Given the description of an element on the screen output the (x, y) to click on. 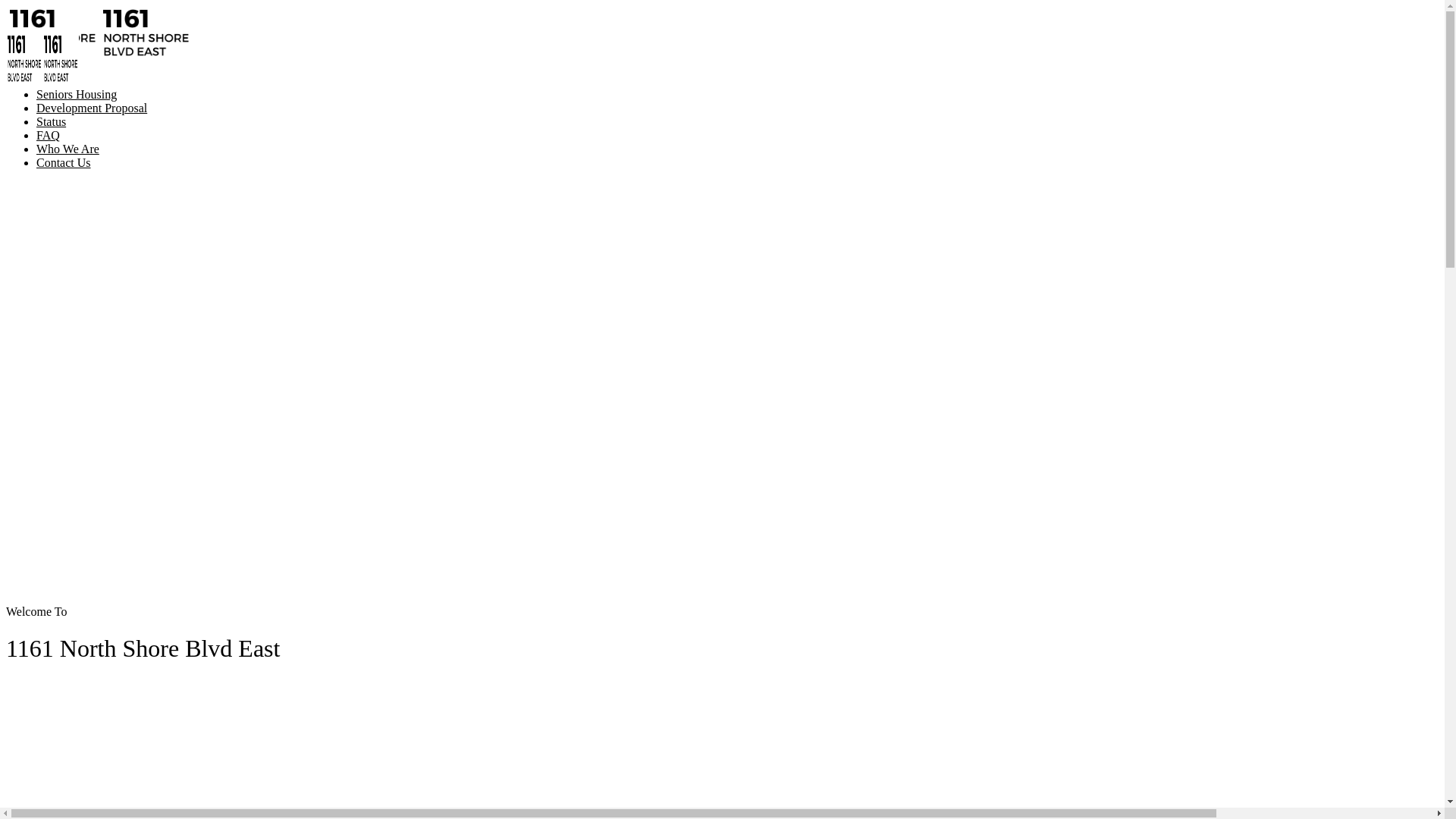
Contact Us Element type: text (63, 162)
Home Element type: text (50, 80)
Status Element type: text (50, 121)
Who We Are Element type: text (67, 148)
1161 North Shore Blvd East | Burlington, Ontario Element type: hover (42, 80)
FAQ Element type: text (47, 134)
1161 North Shore Blvd East | Burlington, Ontario Element type: hover (99, 54)
Development Proposal Element type: text (91, 107)
Seniors Housing Element type: text (76, 93)
